Given the description of an element on the screen output the (x, y) to click on. 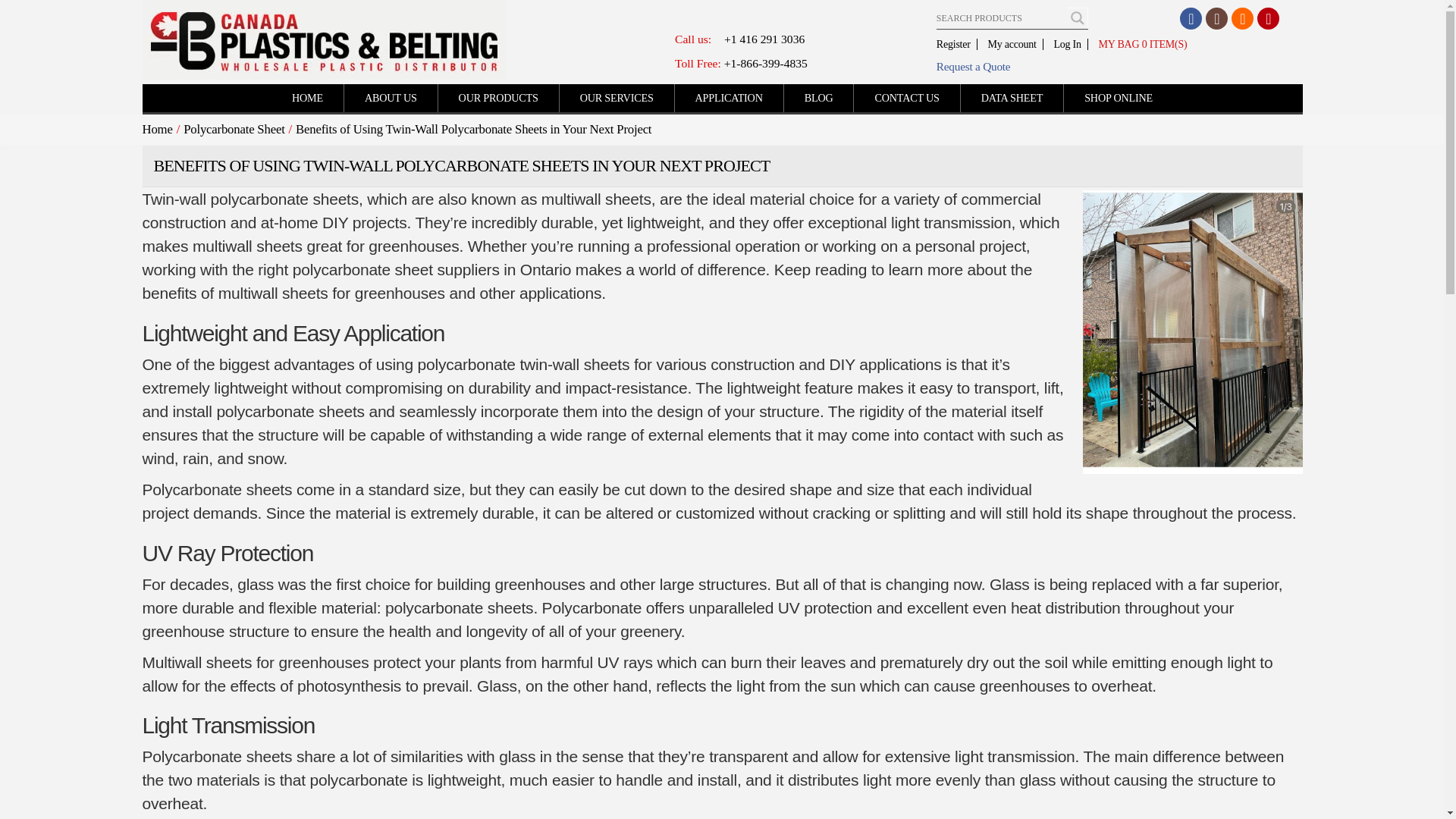
HOME (306, 98)
Request for Quote (1107, 66)
Log In (1066, 43)
ABOUT US (390, 98)
My account (1011, 43)
Go to the Polycarbonate Sheet category archives. (233, 129)
Go to Canada Plastics. (157, 129)
Request a Quote (1107, 66)
OUR PRODUCTS (498, 98)
Register (956, 43)
